Given the description of an element on the screen output the (x, y) to click on. 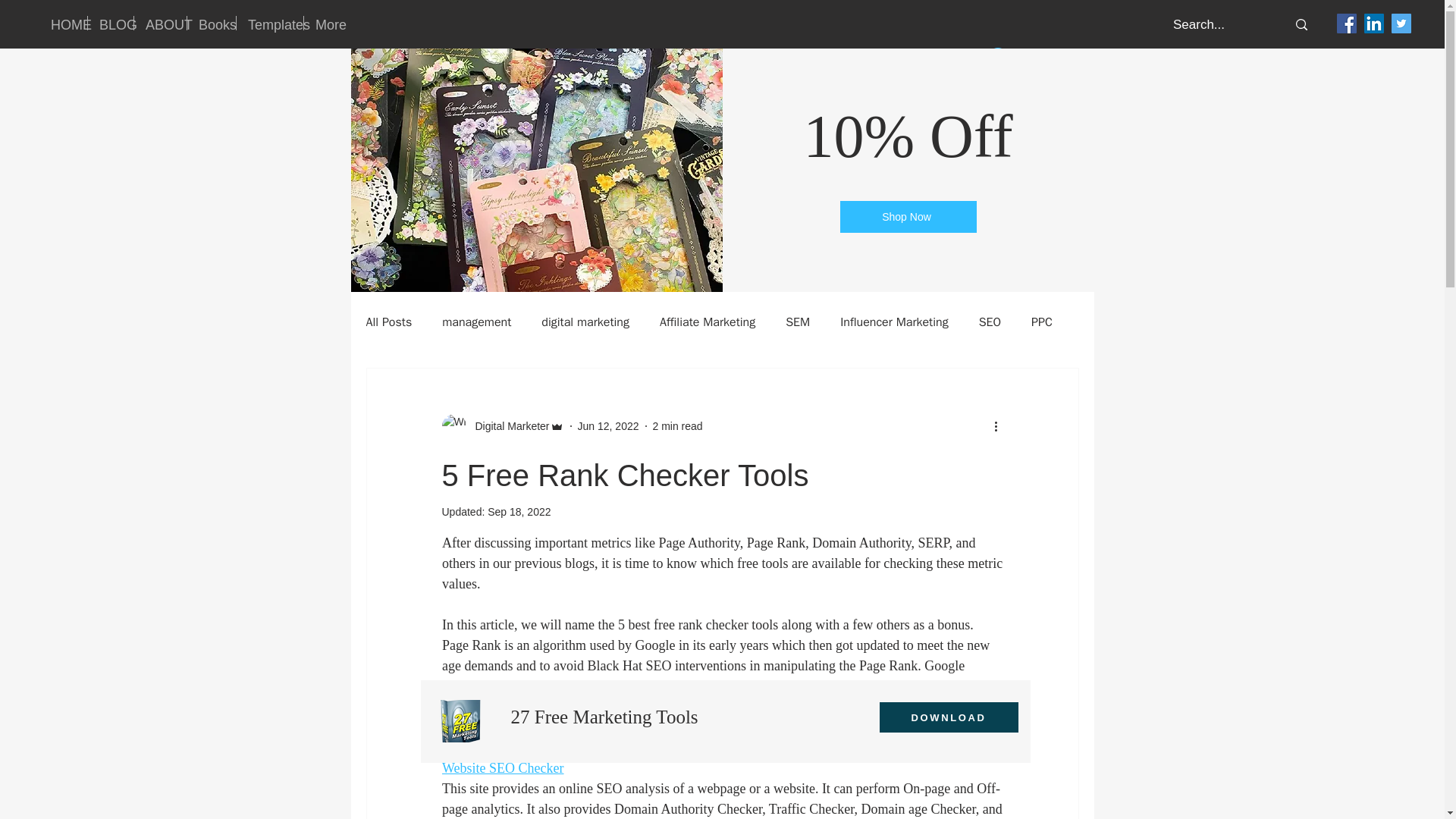
Log In (1018, 57)
Affiliate Marketing (707, 321)
PPC (1041, 321)
Jun 12, 2022 (608, 426)
Influencer Marketing (894, 321)
2 min read (676, 426)
Website SEO Checker (502, 767)
Shop Now (908, 216)
All Posts (388, 321)
HOME (63, 22)
